Given the description of an element on the screen output the (x, y) to click on. 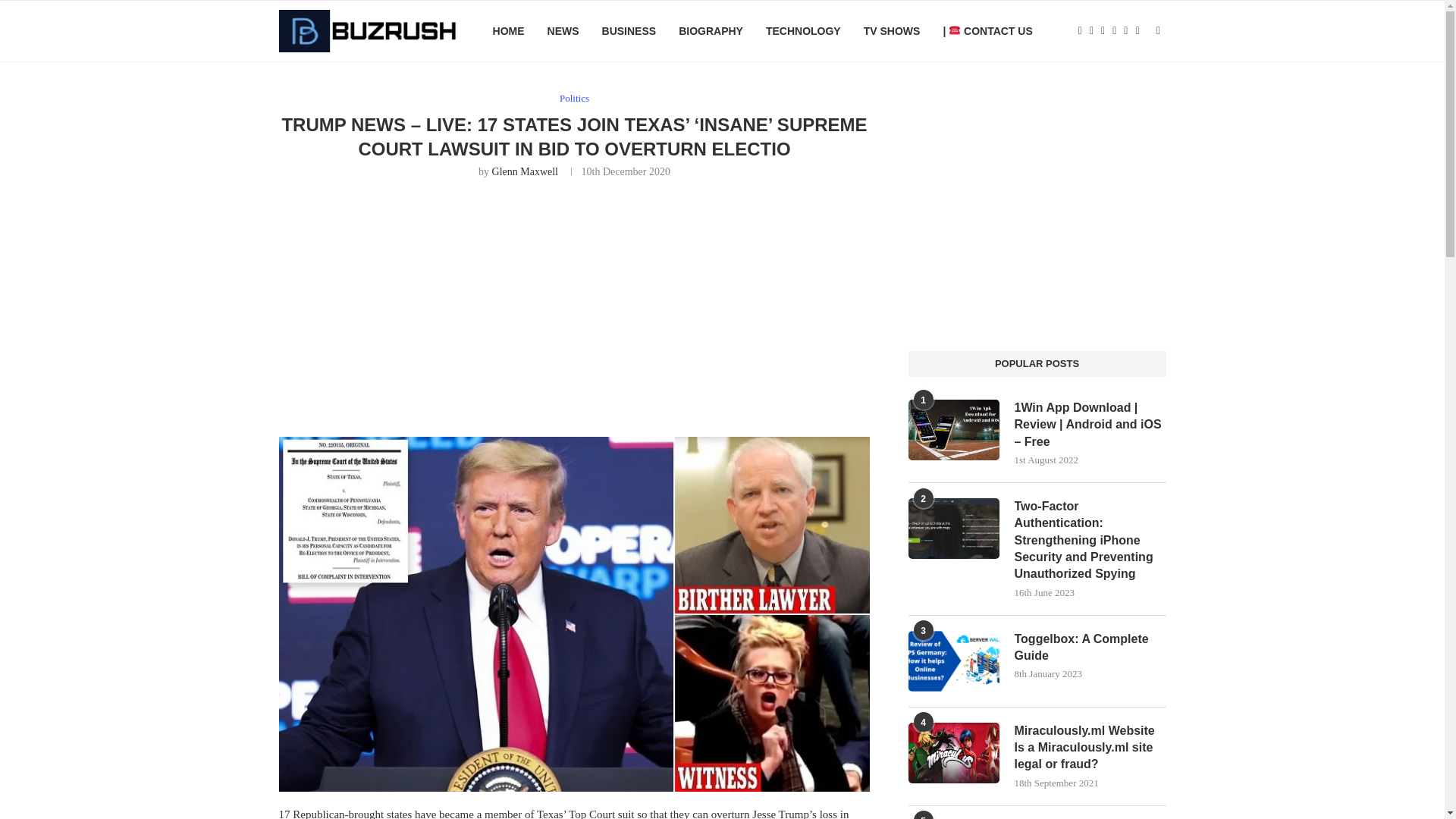
BUSINESS (629, 30)
BIOGRAPHY (710, 30)
Advertisement (574, 304)
TECHNOLOGY (803, 30)
TV SHOWS (891, 30)
Glenn Maxwell (524, 171)
Politics (574, 98)
